Given the description of an element on the screen output the (x, y) to click on. 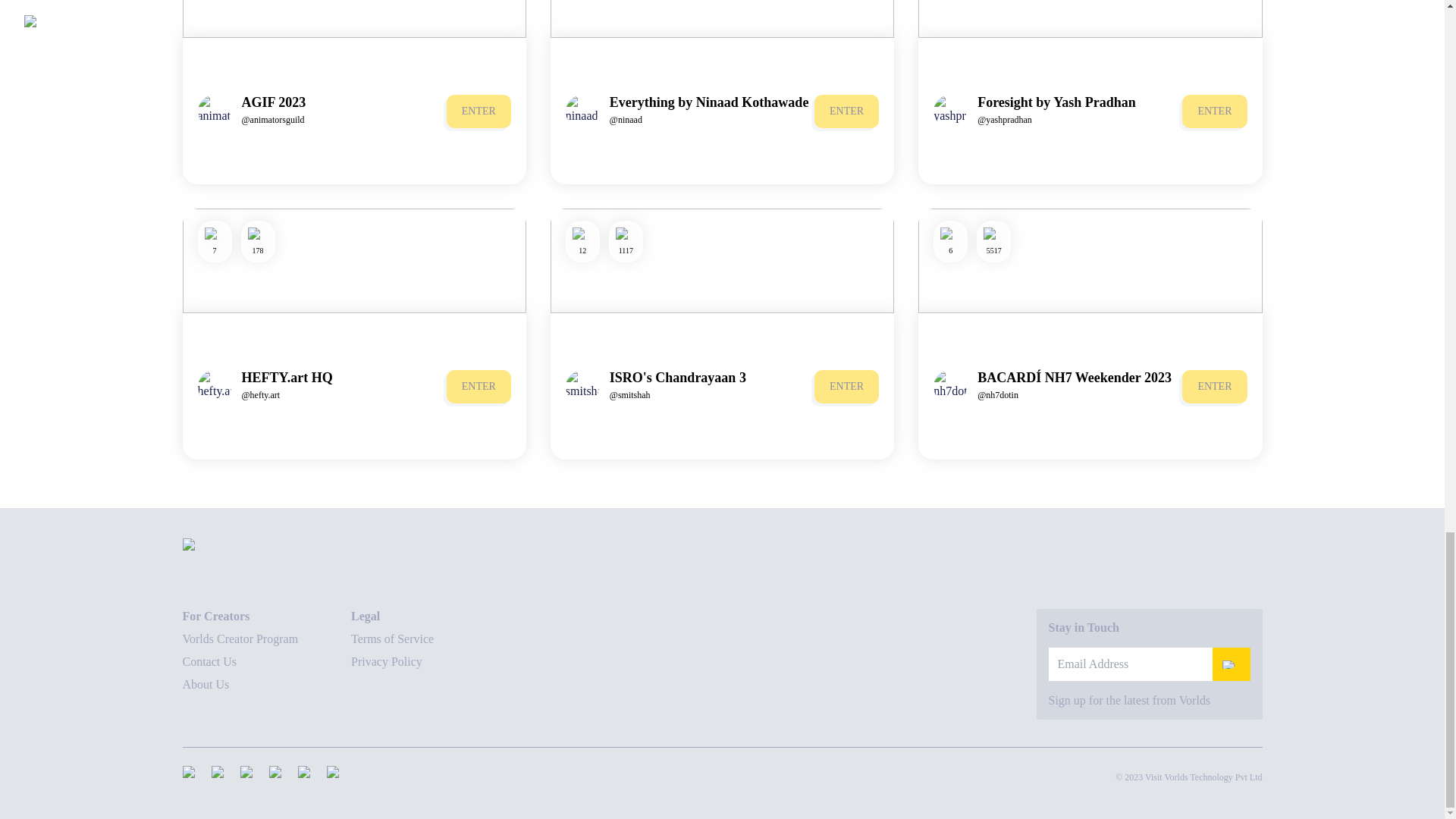
ENTER (478, 111)
ENTER (478, 386)
ENTER (478, 386)
AGIF 2023 (273, 102)
ENTER (478, 111)
ENTER (846, 111)
ENTER (846, 111)
Foresight by Yash Pradhan (1055, 102)
ENTER (1214, 111)
HEFTY.art HQ (286, 377)
